Given the description of an element on the screen output the (x, y) to click on. 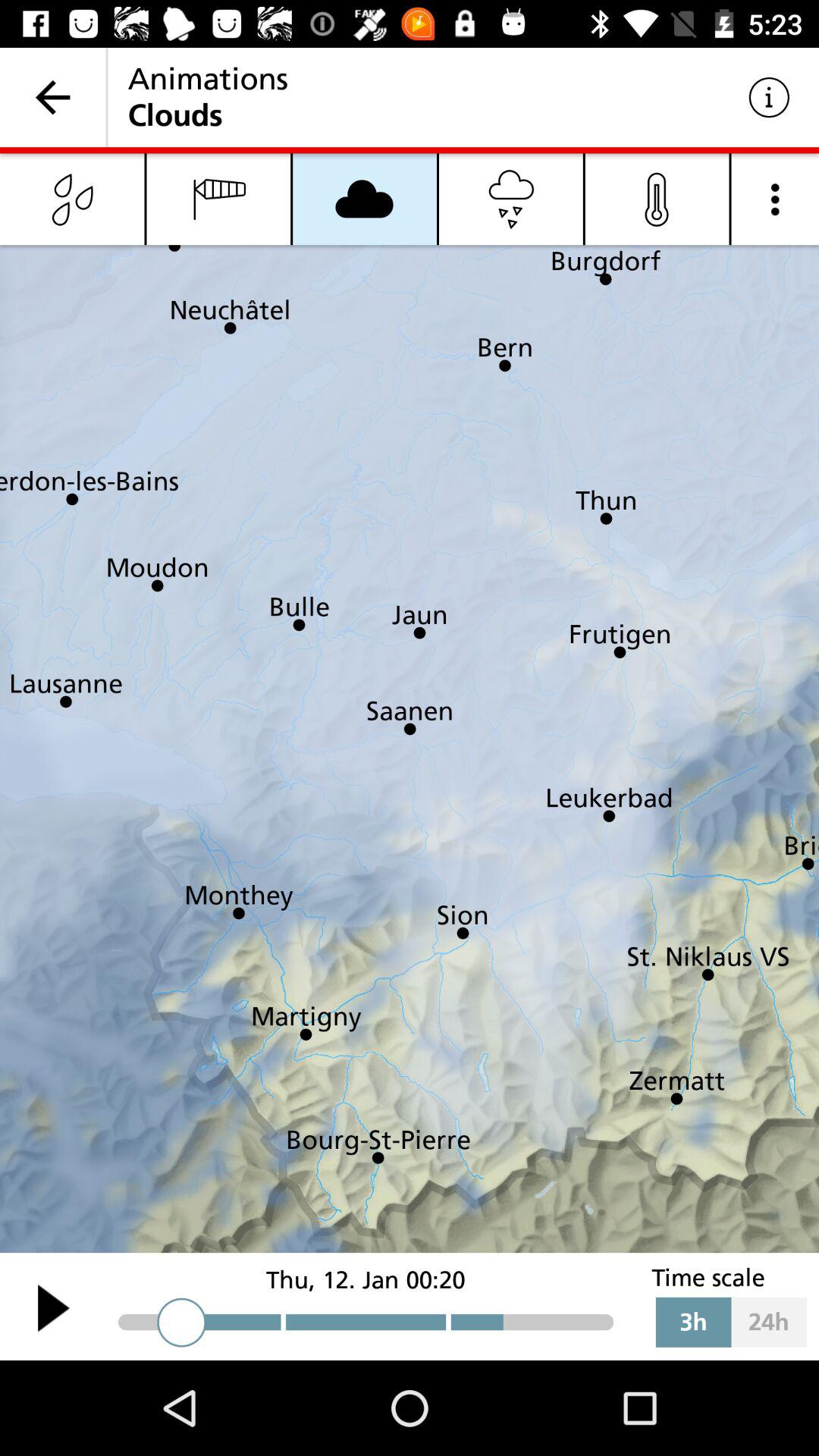
turn on item to the left of the animations icon (52, 97)
